Given the description of an element on the screen output the (x, y) to click on. 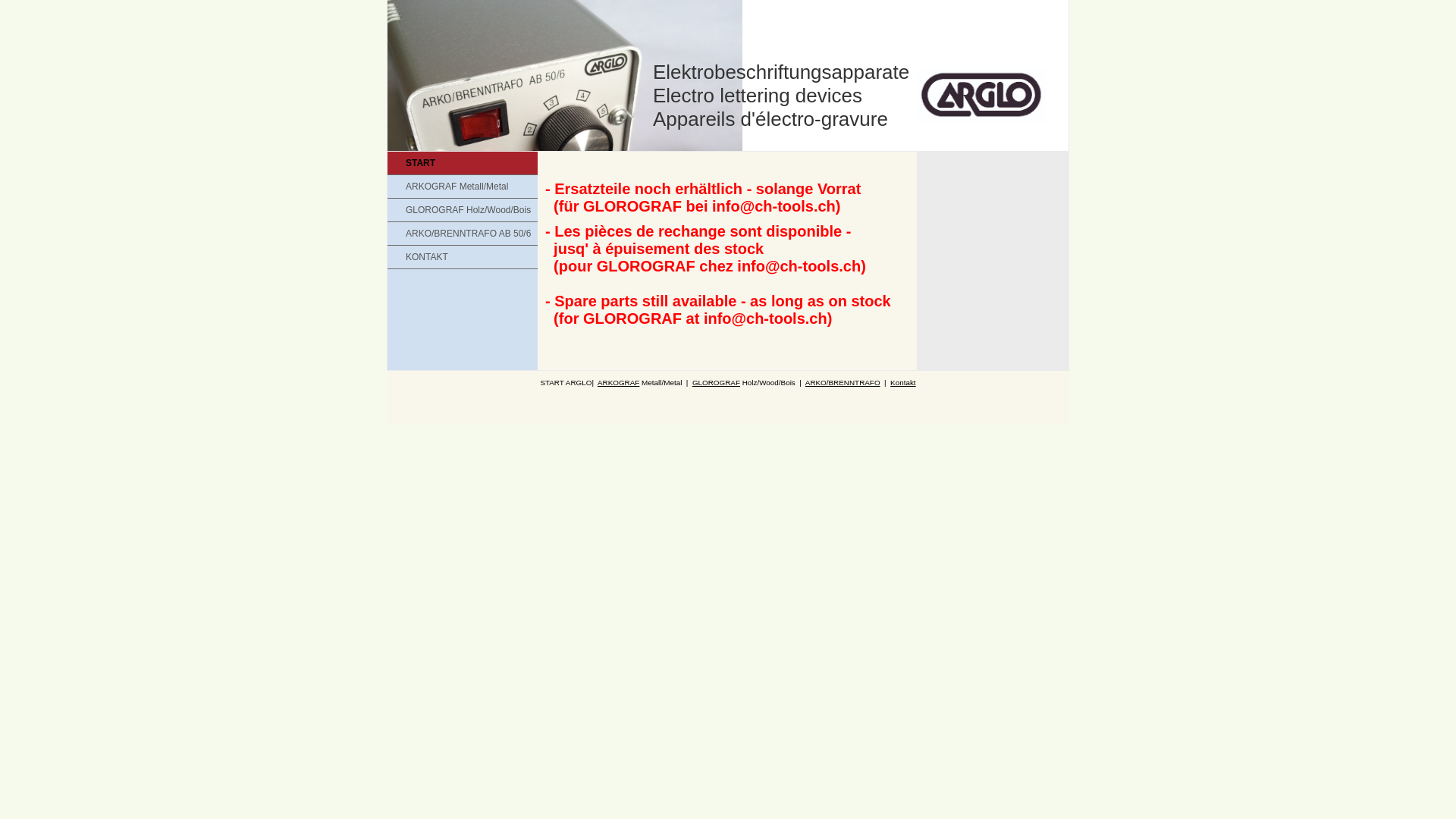
ARKO/BRENNTRAFO AB 50/6 Element type: text (462, 233)
START Element type: text (462, 162)
GLOROGRAF Element type: text (716, 382)
GLOROGRAF Holz/Wood/Bois Element type: text (462, 209)
KONTAKT Element type: text (462, 256)
ARKOGRAF Element type: text (618, 382)
ARKOGRAF Metall/Metal Element type: text (462, 186)
ARKO/BRENNTRAFO Element type: text (842, 382)
Kontakt Element type: text (903, 382)
